Given the description of an element on the screen output the (x, y) to click on. 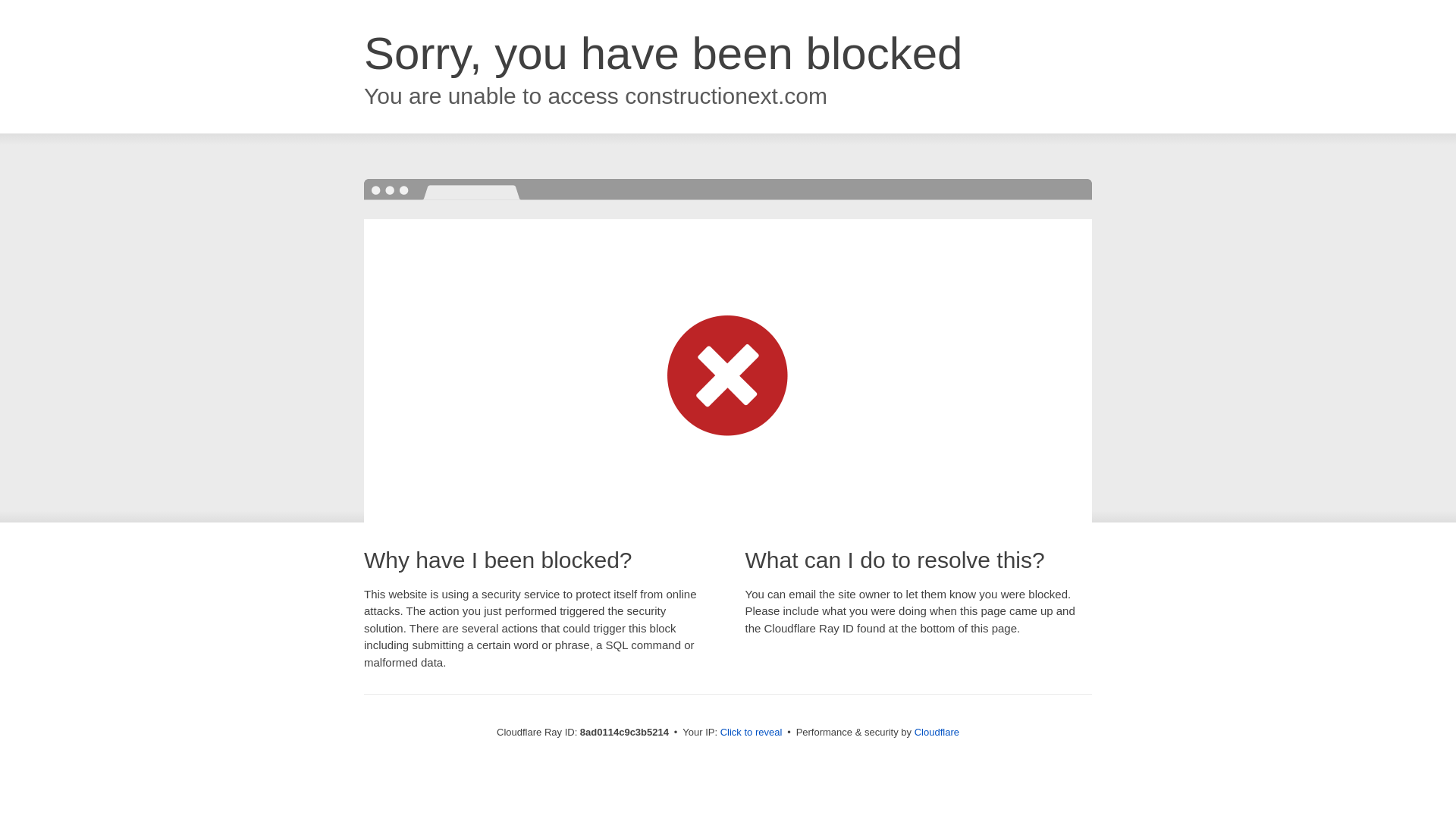
Cloudflare (936, 731)
Click to reveal (751, 732)
